Given the description of an element on the screen output the (x, y) to click on. 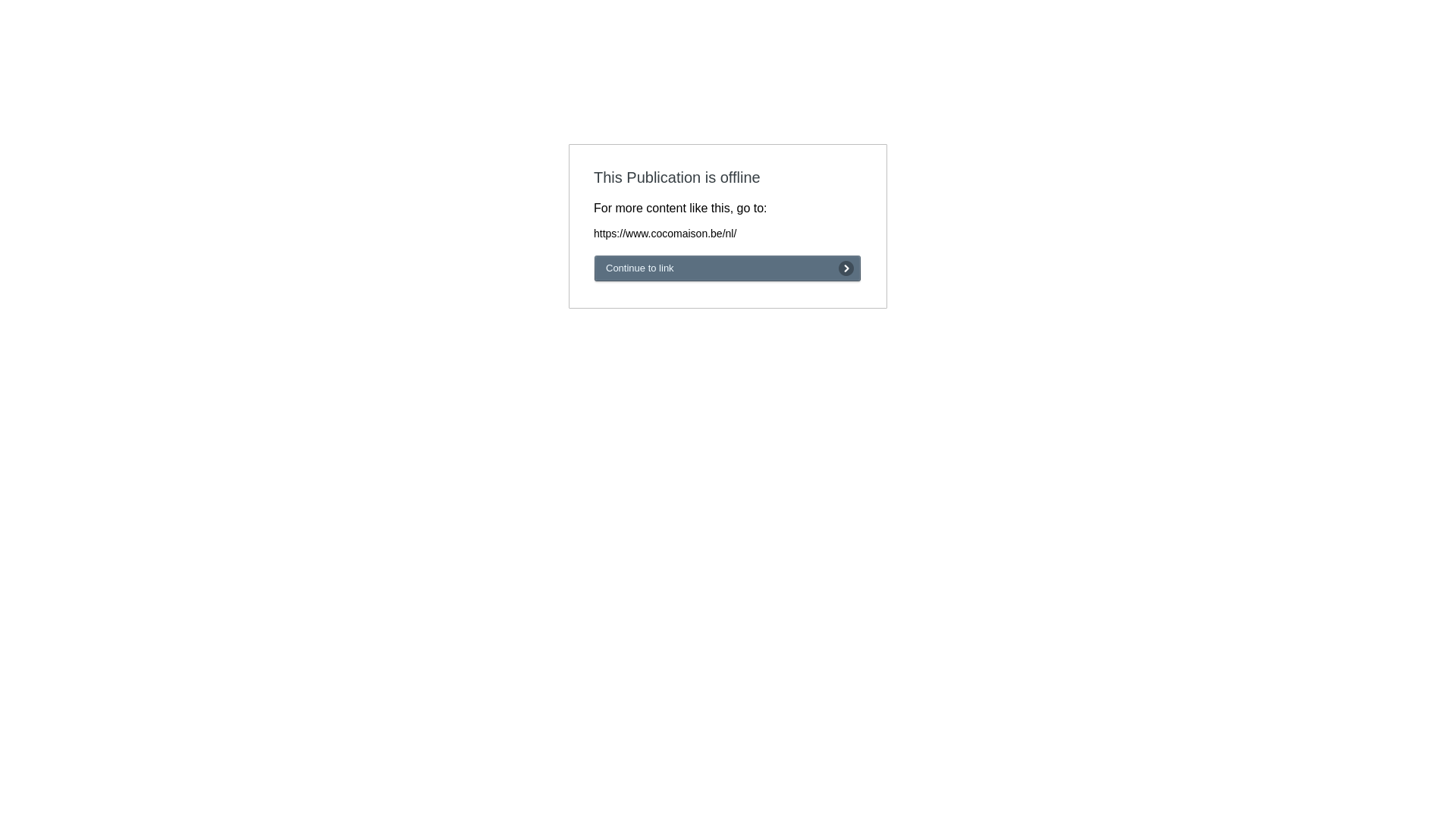
Continue to link Element type: text (727, 268)
